Given the description of an element on the screen output the (x, y) to click on. 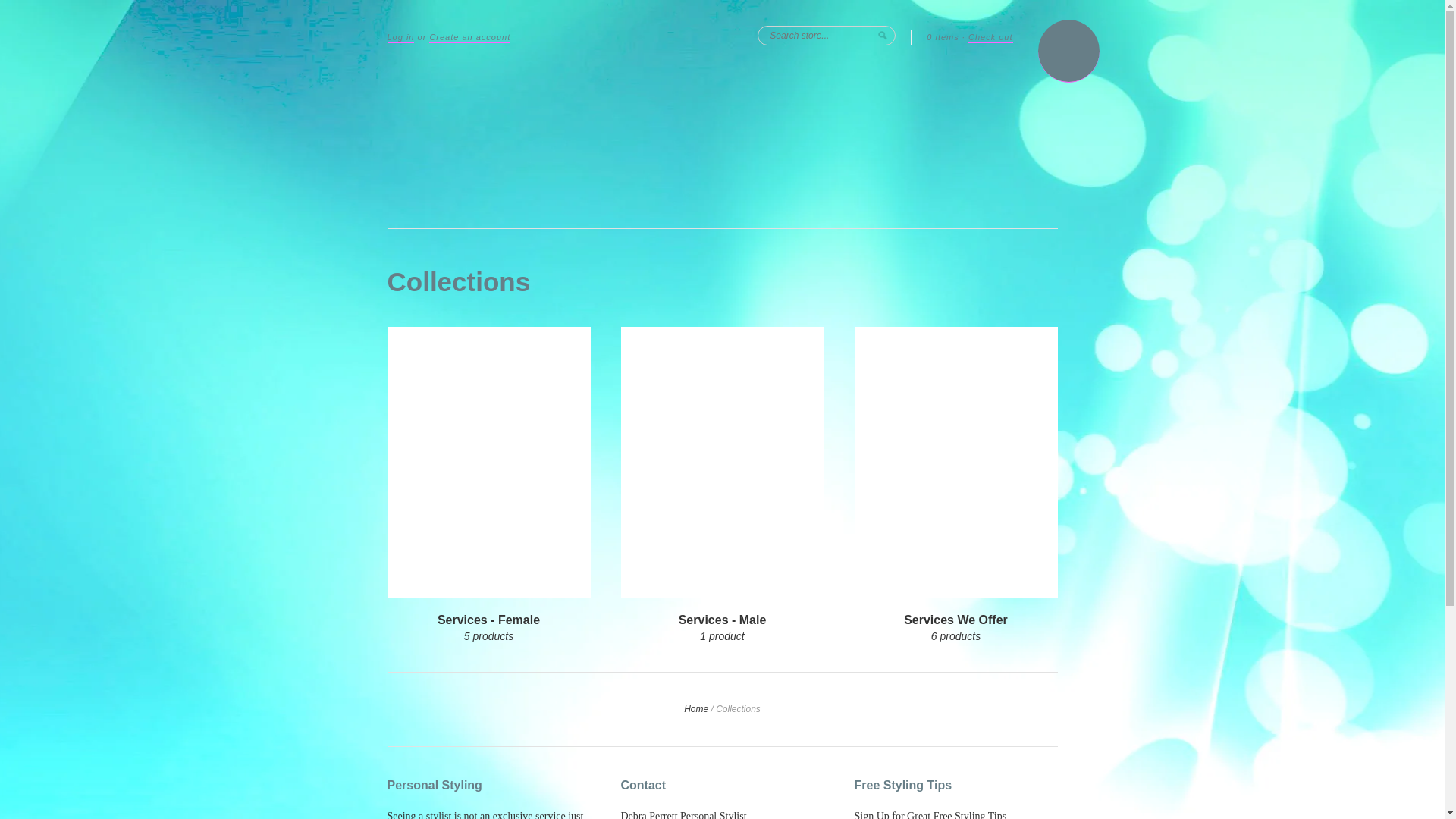
Home Element type: text (696, 708)
Log in Element type: text (400, 37)
0 items Element type: text (942, 37)
Services We Offer Element type: text (955, 619)
Check out Element type: text (990, 37)
Services - Female Element type: text (488, 619)
Services - Male Element type: text (722, 619)
Create an account Element type: text (469, 37)
